Given the description of an element on the screen output the (x, y) to click on. 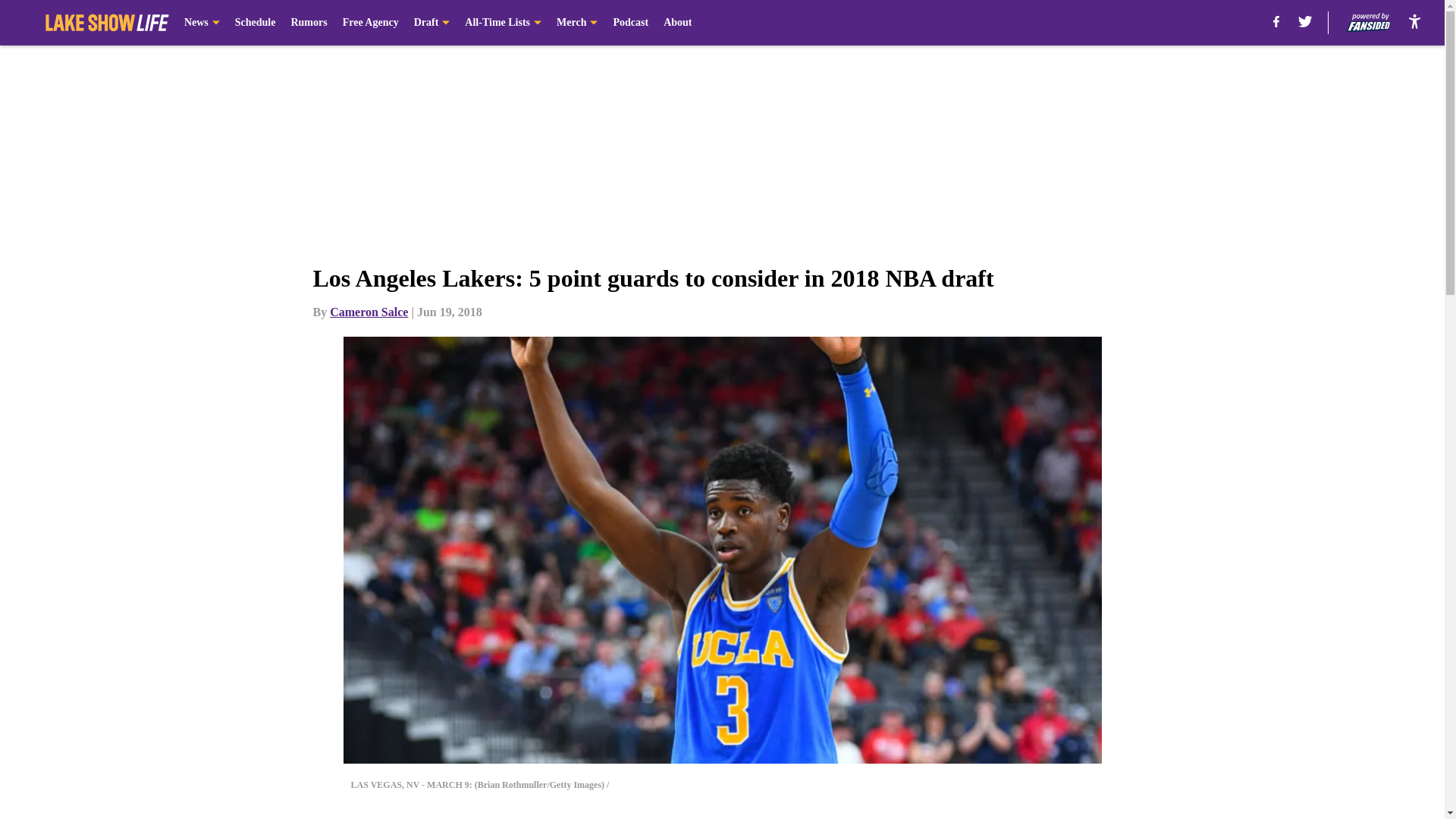
News (201, 22)
Free Agency (370, 22)
Podcast (629, 22)
Draft (431, 22)
About (677, 22)
Rumors (307, 22)
Schedule (255, 22)
All-Time Lists (502, 22)
Cameron Salce (368, 311)
